Given the description of an element on the screen output the (x, y) to click on. 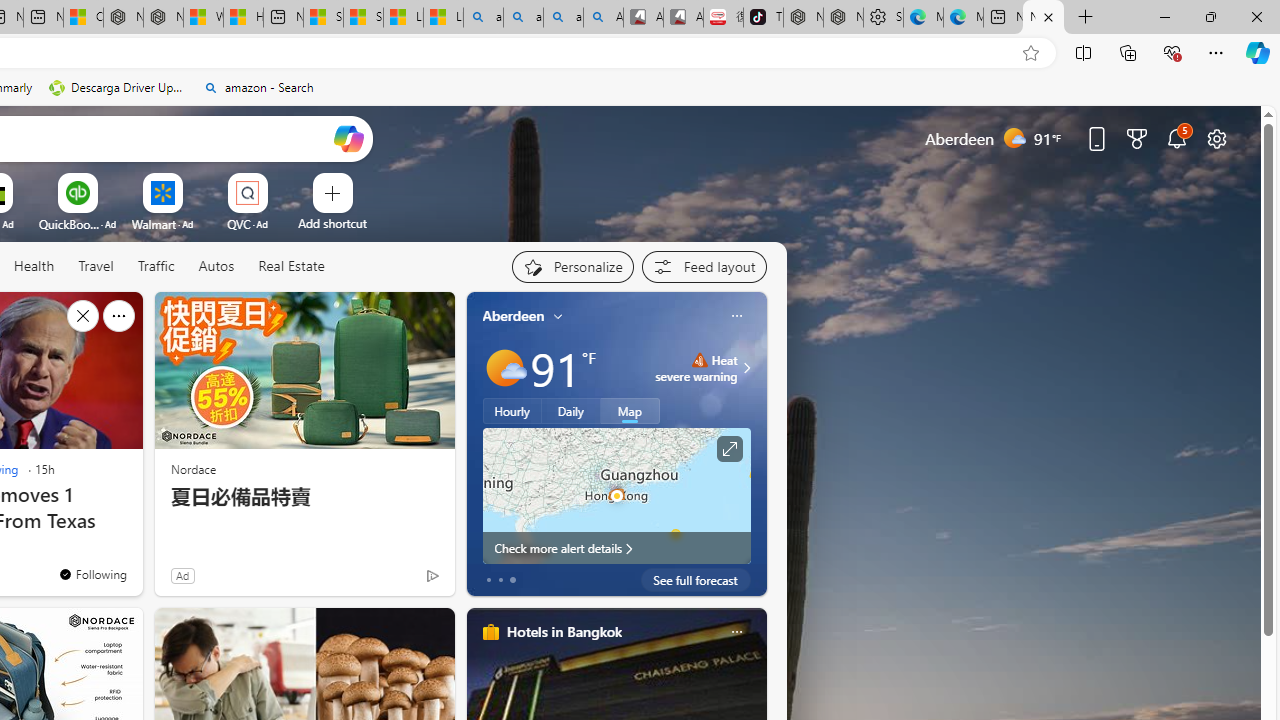
Ad (182, 575)
Hotels in Bangkok (563, 631)
Ad Choice (432, 575)
Page settings (1216, 138)
tab-1 (500, 579)
TikTok (763, 17)
Autos (215, 265)
See full forecast (695, 579)
Microsoft rewards (1137, 138)
Nordace - Best Sellers (803, 17)
Huge shark washes ashore at New York City beach | Watch (243, 17)
Mostly sunny (504, 368)
See more (118, 315)
